Given the description of an element on the screen output the (x, y) to click on. 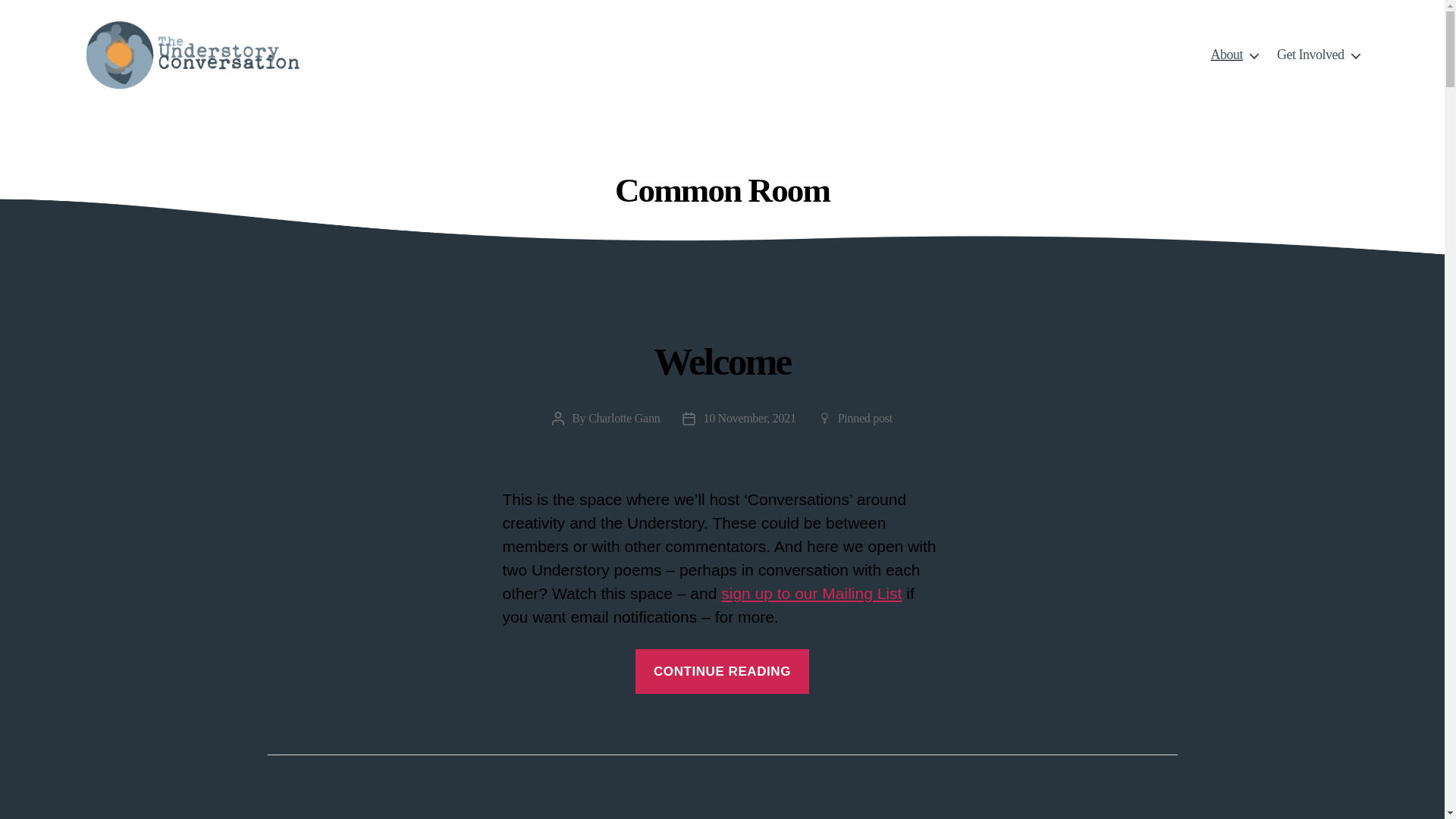
sign up to our Mailing List (810, 592)
About (1233, 54)
Get Involved (1317, 54)
Welcome (721, 361)
